Given the description of an element on the screen output the (x, y) to click on. 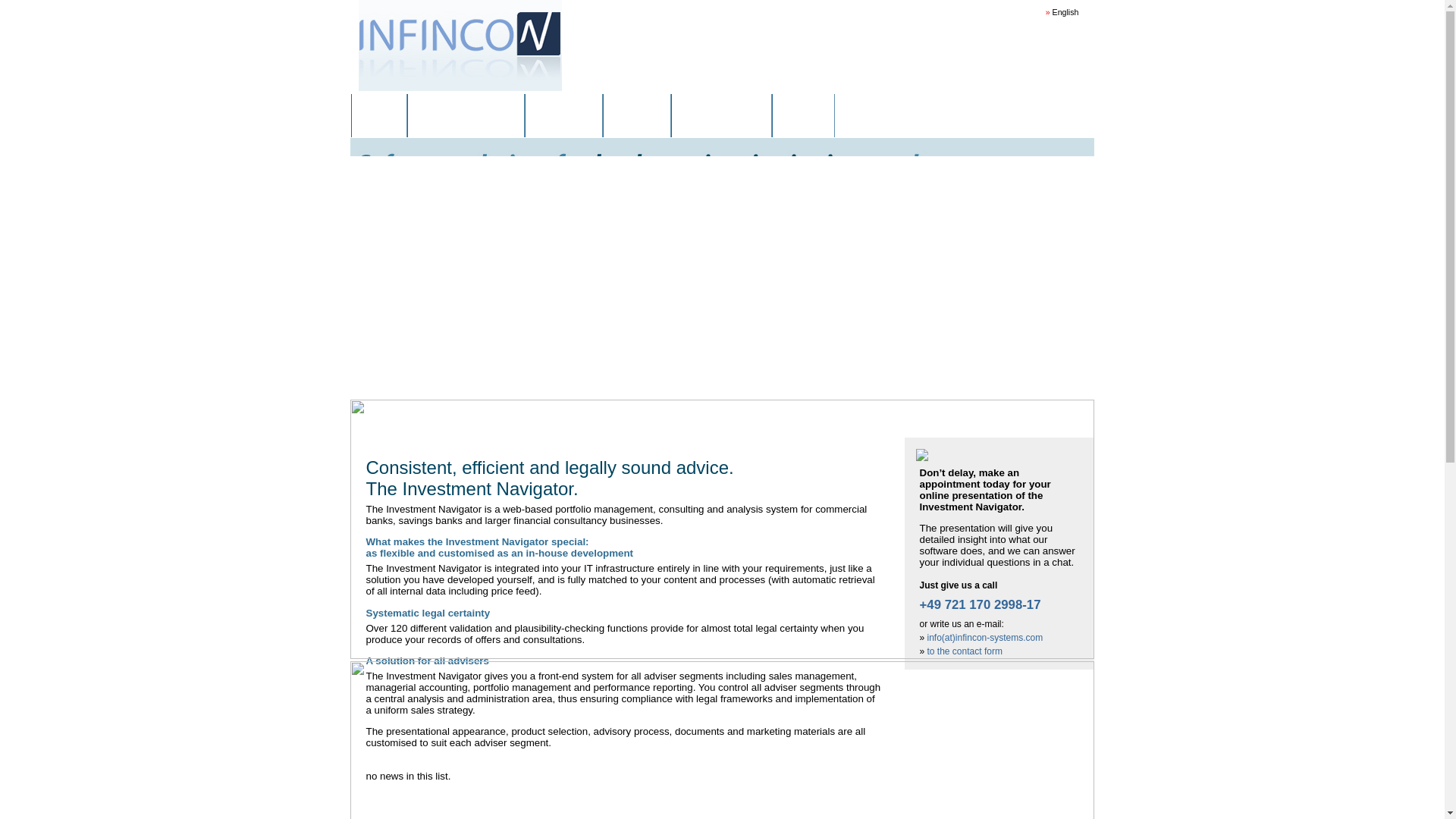
About us (636, 116)
Investment Navigator (465, 116)
Careers and jobs (721, 116)
References (563, 116)
to the contact form (965, 651)
Contact (803, 116)
Home (379, 116)
